Given the description of an element on the screen output the (x, y) to click on. 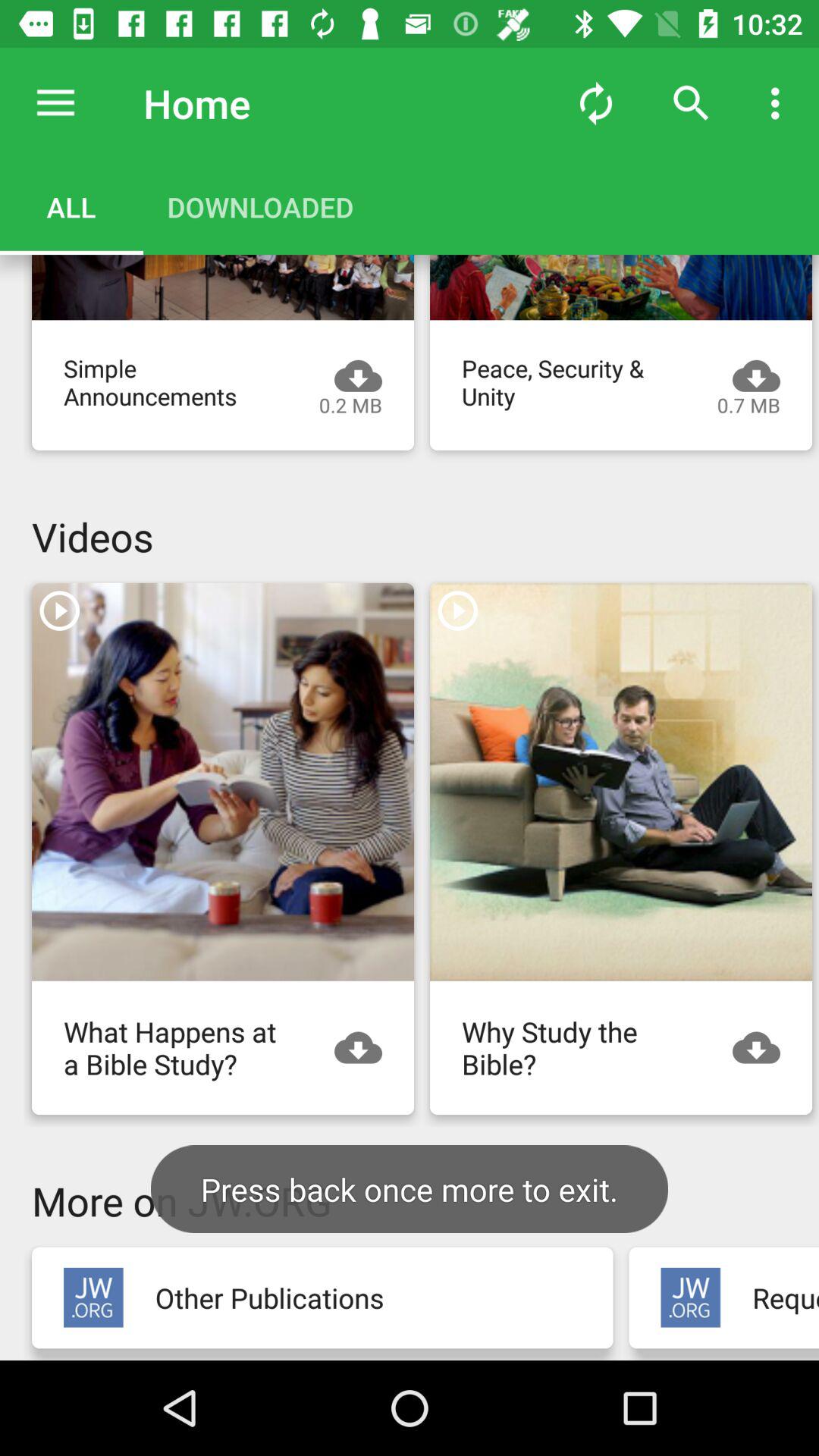
go to advertisement (620, 781)
